Given the description of an element on the screen output the (x, y) to click on. 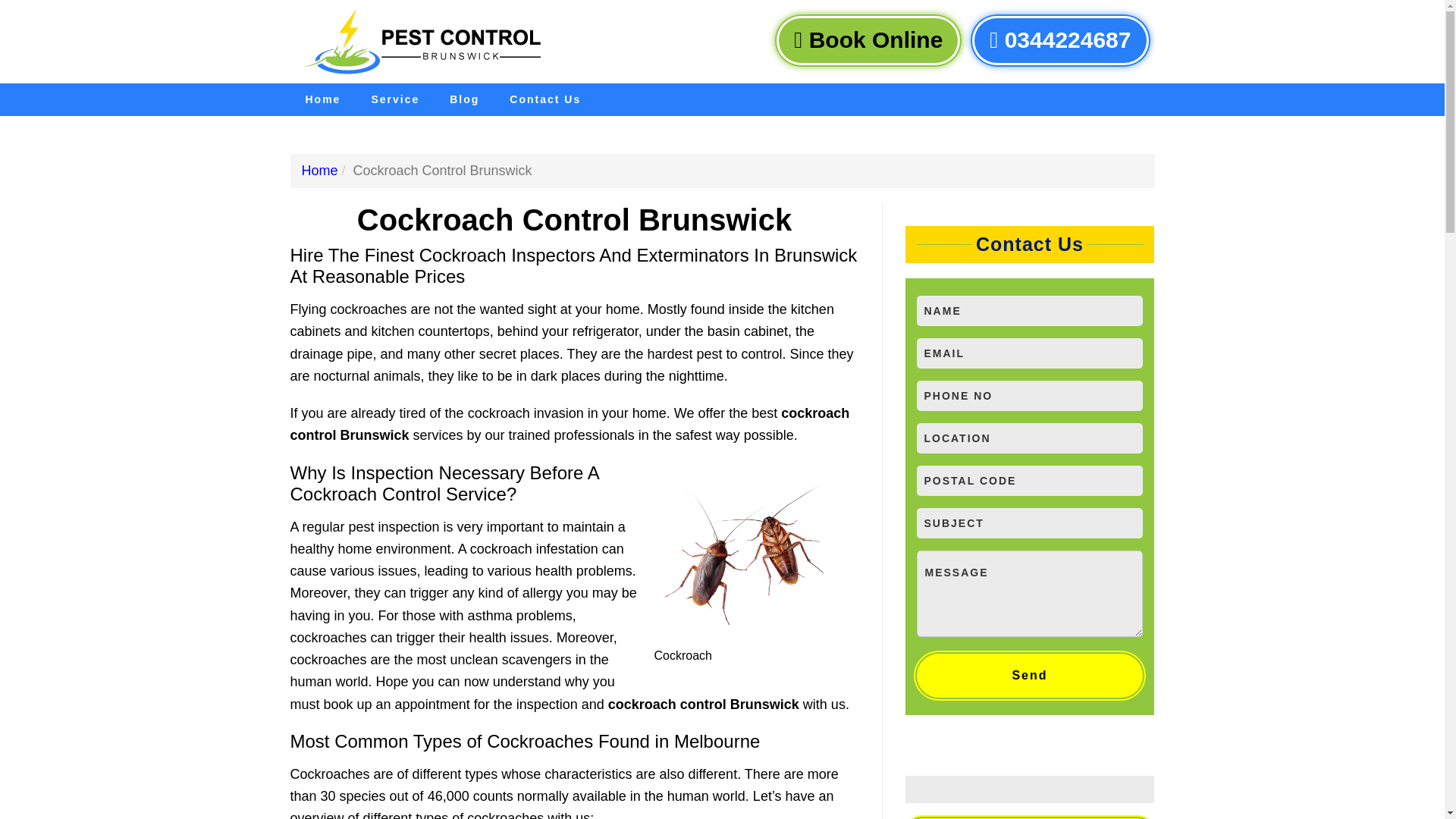
0344224687 (1060, 40)
Home (322, 99)
Contact Us (545, 99)
Book Online (867, 40)
Send (1028, 675)
Blog (464, 99)
Service (394, 99)
Cockroach Control Brunswick (756, 553)
